Given the description of an element on the screen output the (x, y) to click on. 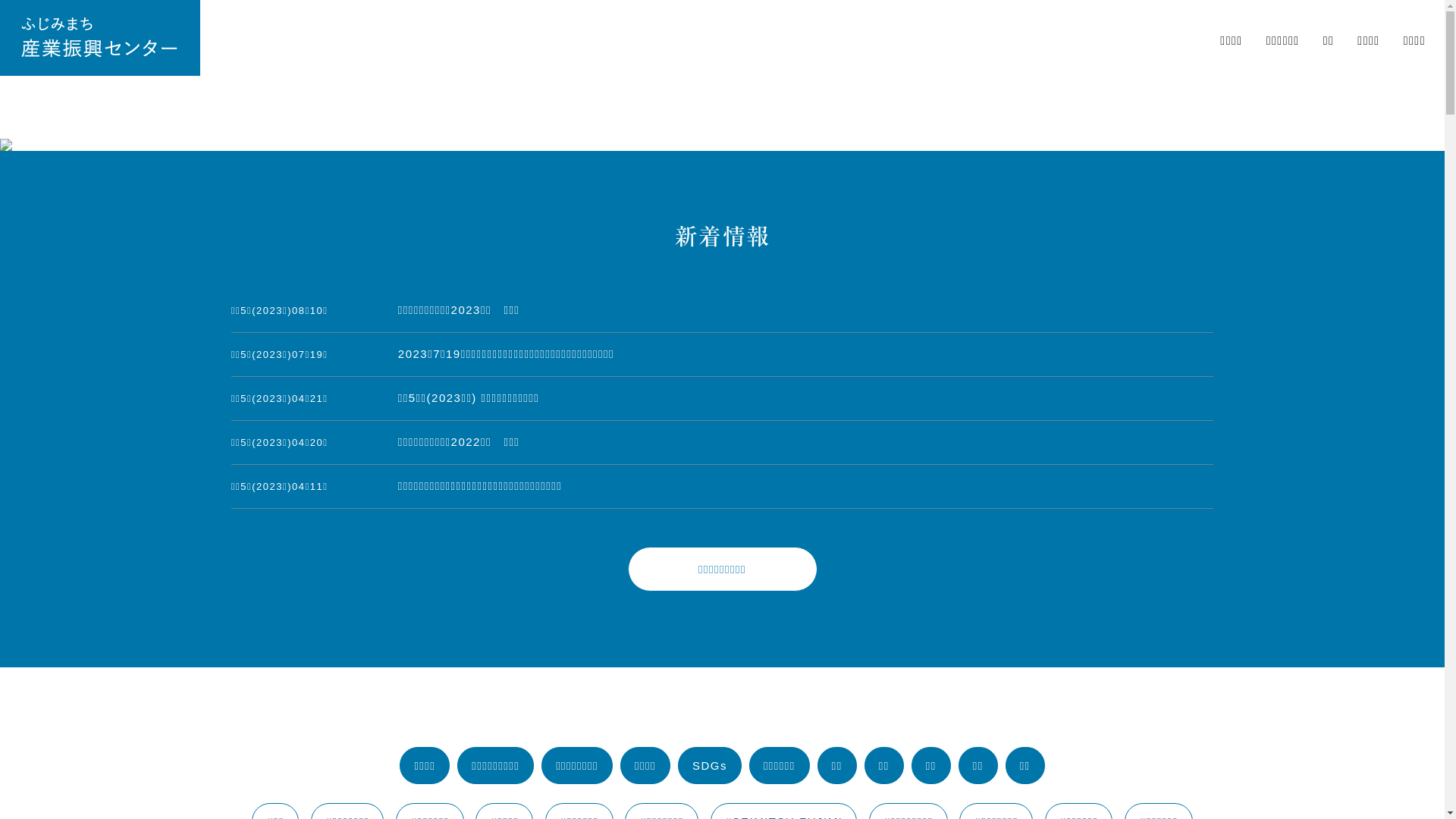
SDGs Element type: text (709, 765)
